Given the description of an element on the screen output the (x, y) to click on. 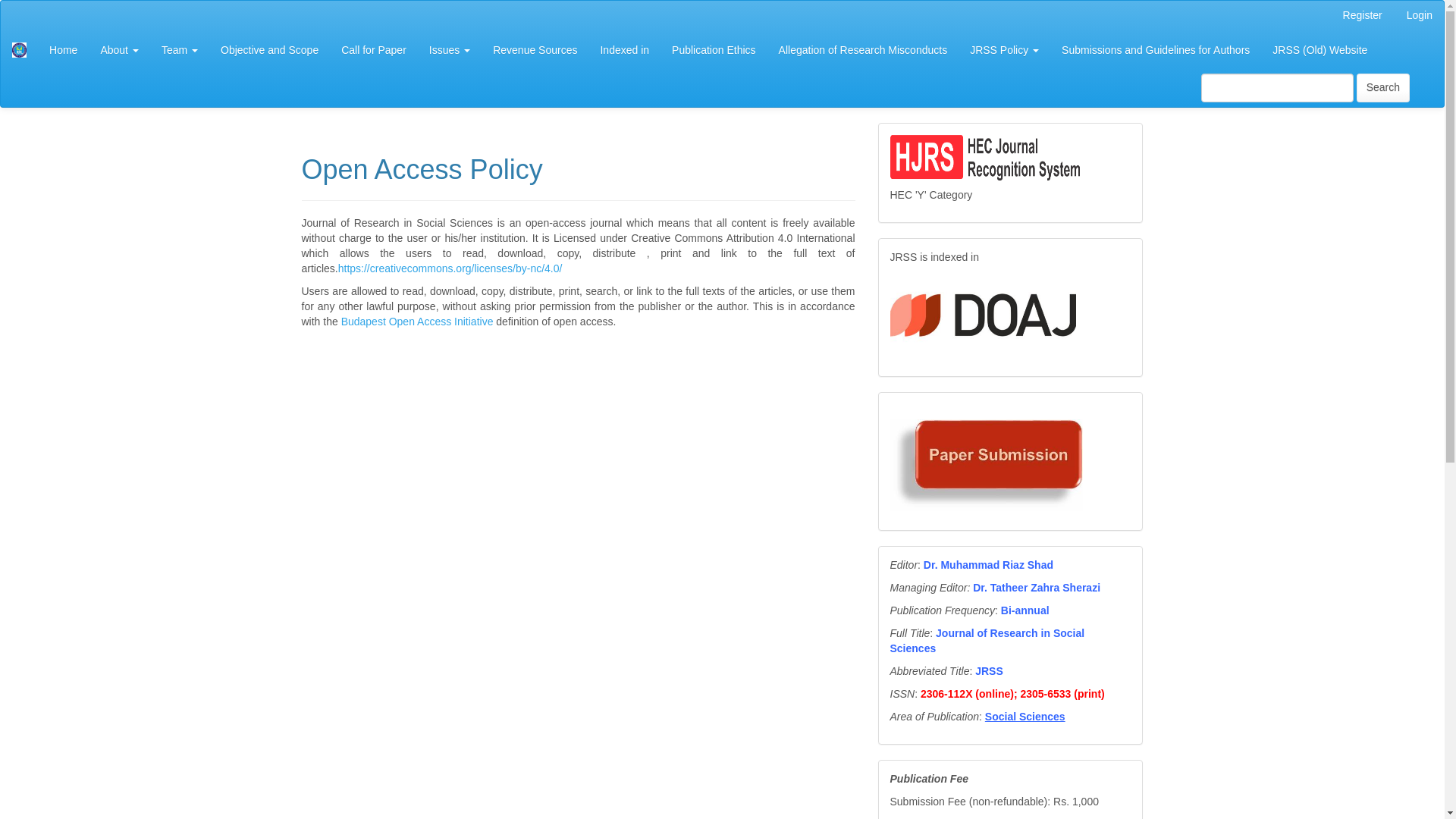
Indexed in (624, 49)
Register (1362, 15)
About (118, 49)
Publication Ethics (714, 49)
Revenue Sources (534, 49)
Home (62, 49)
Allegation of Research Misconducts (863, 49)
JRSS Policy (1003, 49)
Creative Commons Attribution (449, 268)
Submissions and Guidelines for Authors (1154, 49)
